Given the description of an element on the screen output the (x, y) to click on. 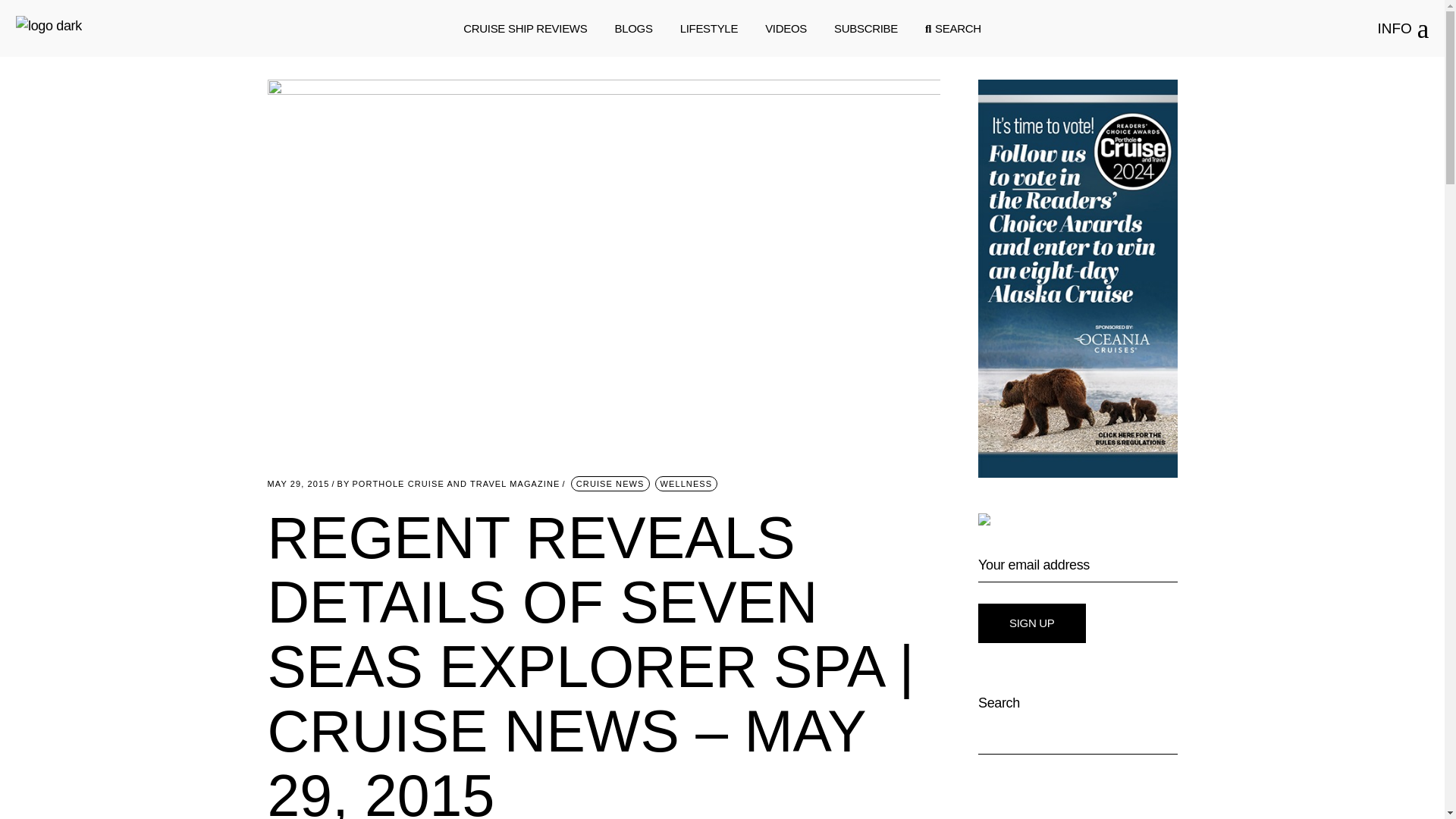
CRUISE SHIP REVIEWS (524, 28)
SUBSCRIBE (866, 28)
INFO (1402, 28)
LIFESTYLE (708, 28)
SEARCH (952, 28)
Sign up (1032, 622)
